Given the description of an element on the screen output the (x, y) to click on. 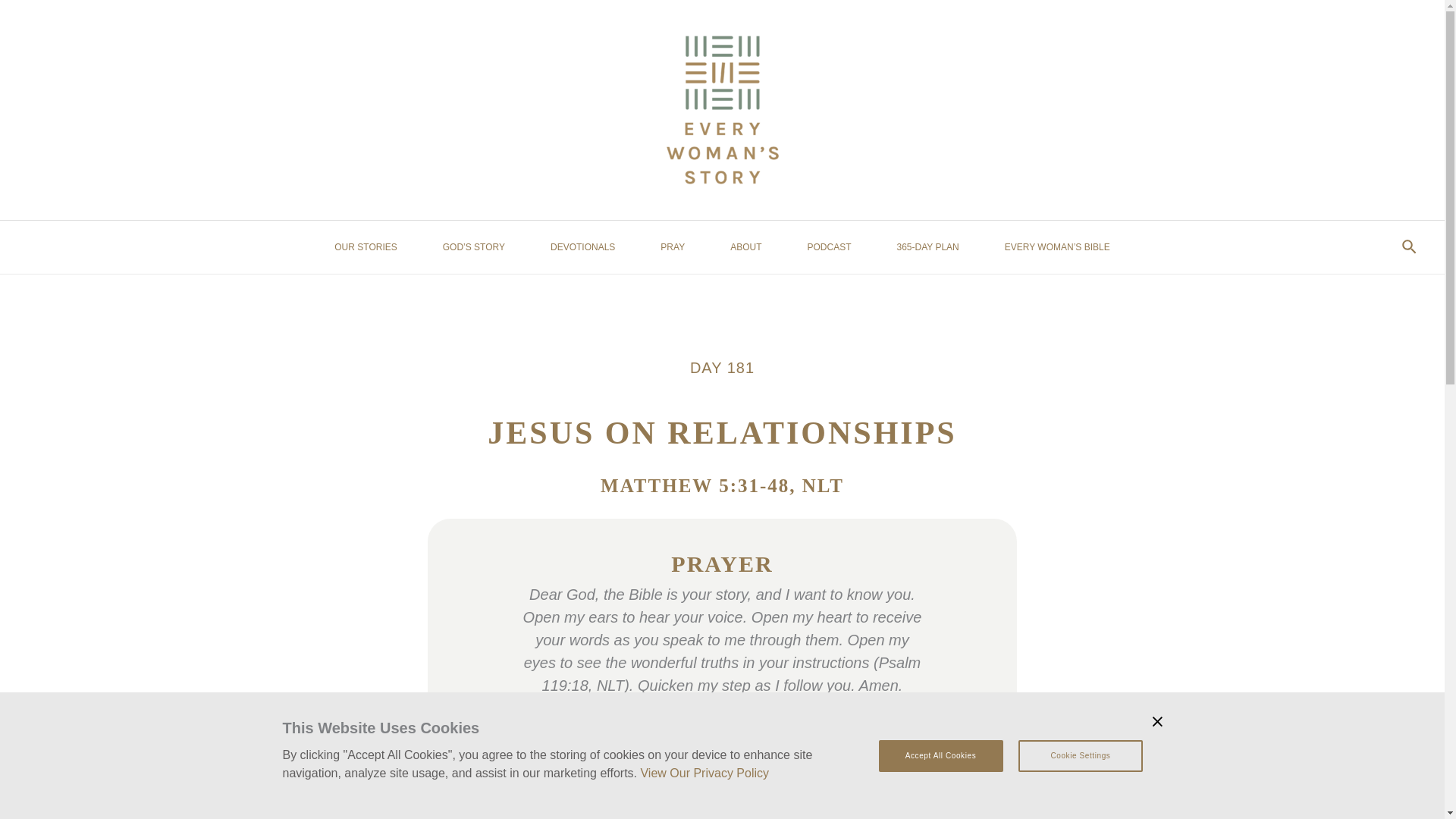
DEVOTIONALS (582, 246)
PODCAST (828, 246)
OUR STORIES (365, 246)
PRAY (672, 246)
ABOUT (745, 246)
365-DAY PLAN (928, 246)
